Given the description of an element on the screen output the (x, y) to click on. 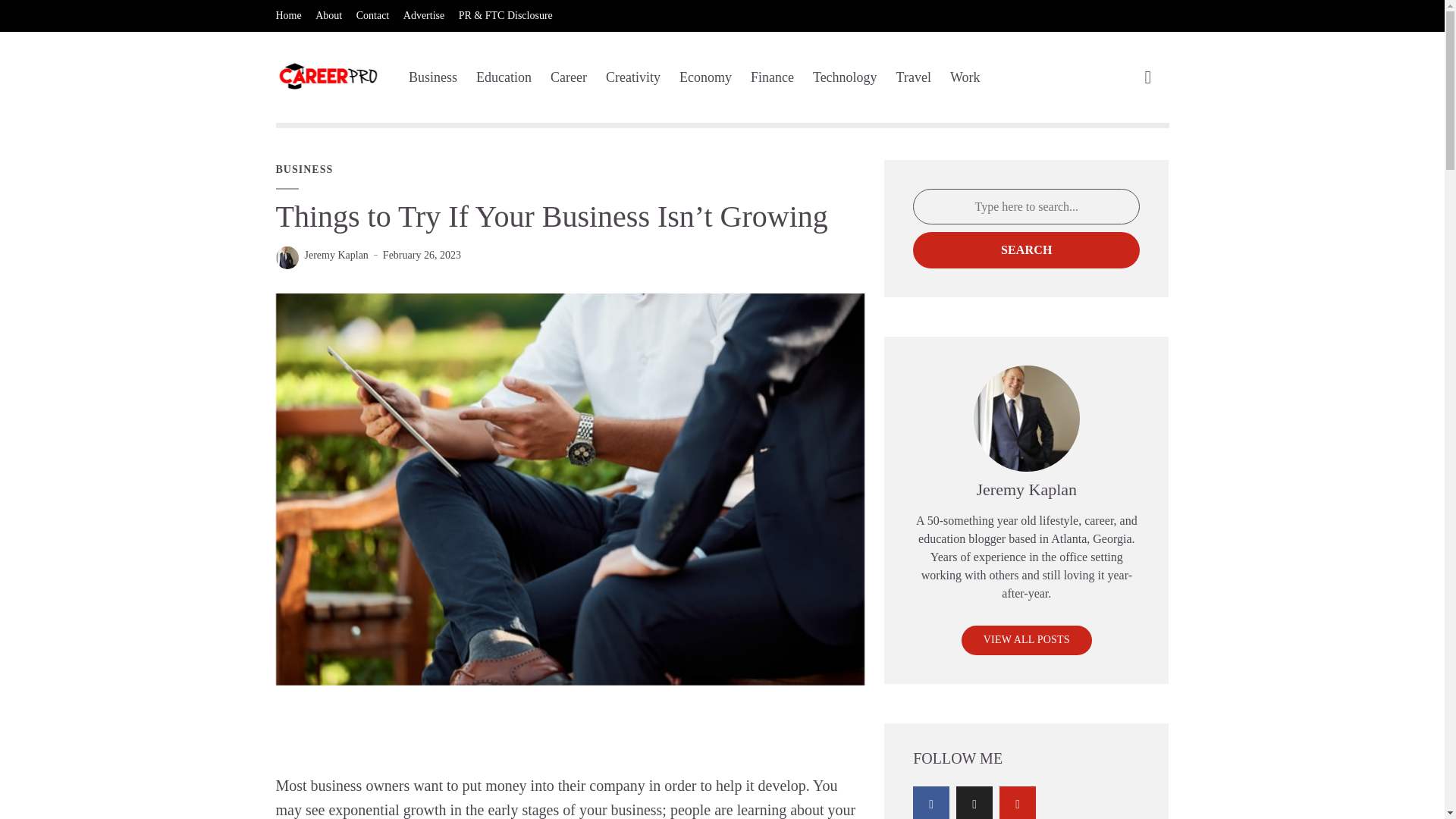
Facebook (930, 802)
Technology (844, 77)
Education (503, 77)
Contact (373, 15)
Pinterest (1016, 802)
Economy (705, 77)
Finance (772, 77)
BUSINESS (304, 169)
Advertise (423, 15)
Career (568, 77)
Work (964, 77)
Business (433, 77)
Travel (913, 77)
Jeremy Kaplan (336, 254)
